Given the description of an element on the screen output the (x, y) to click on. 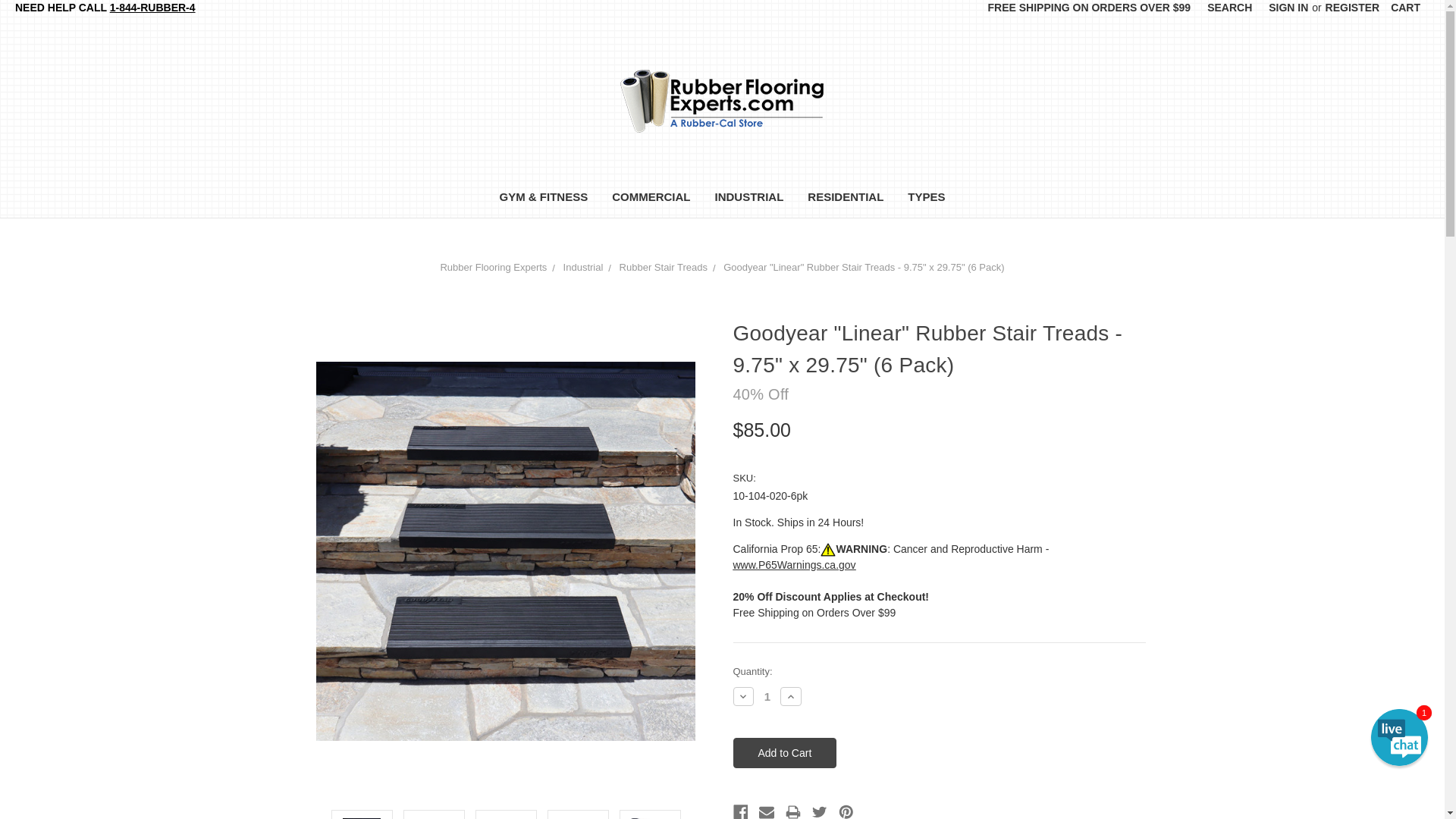
Rubber Flooring Experts (493, 266)
Rubber Flooring Experts (722, 100)
SIGN IN (1288, 13)
Texture Shot (649, 815)
1-844-RUBBER-4 (152, 7)
Entry Shot (361, 815)
RESIDENTIAL (844, 198)
REGISTER (1353, 13)
Previous (310, 817)
Rubber Stair Treads (663, 266)
TYPES (925, 198)
SEARCH (1229, 13)
Single Tile (433, 815)
Add to Cart (783, 752)
